Given the description of an element on the screen output the (x, y) to click on. 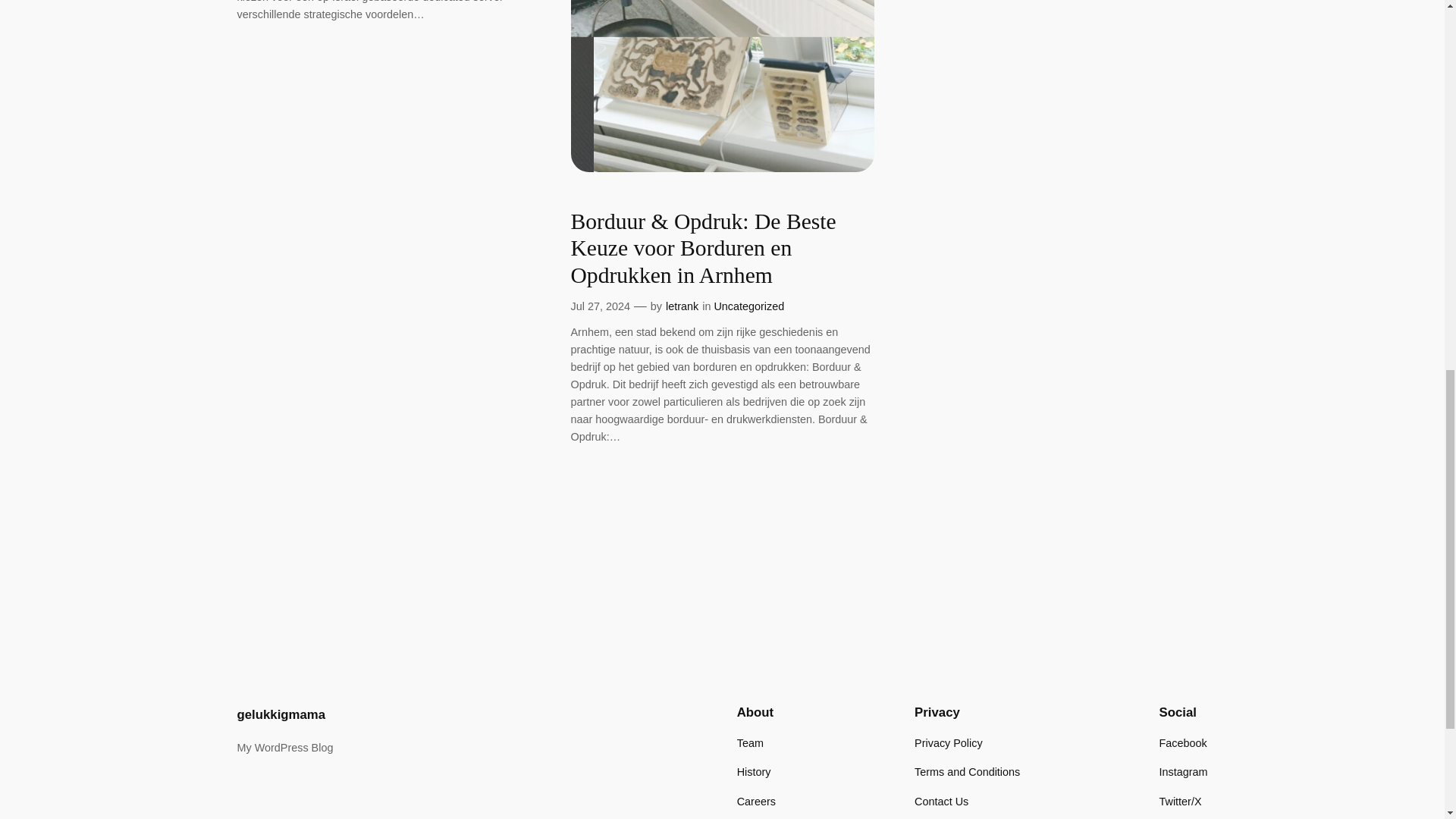
Privacy Policy (948, 742)
Careers (756, 801)
Uncategorized (748, 306)
Jul 27, 2024 (599, 306)
letrank (681, 306)
gelukkigmama (279, 714)
Team (749, 742)
History (753, 771)
Instagram (1182, 771)
Contact Us (941, 801)
Facebook (1182, 742)
Terms and Conditions (967, 771)
